Given the description of an element on the screen output the (x, y) to click on. 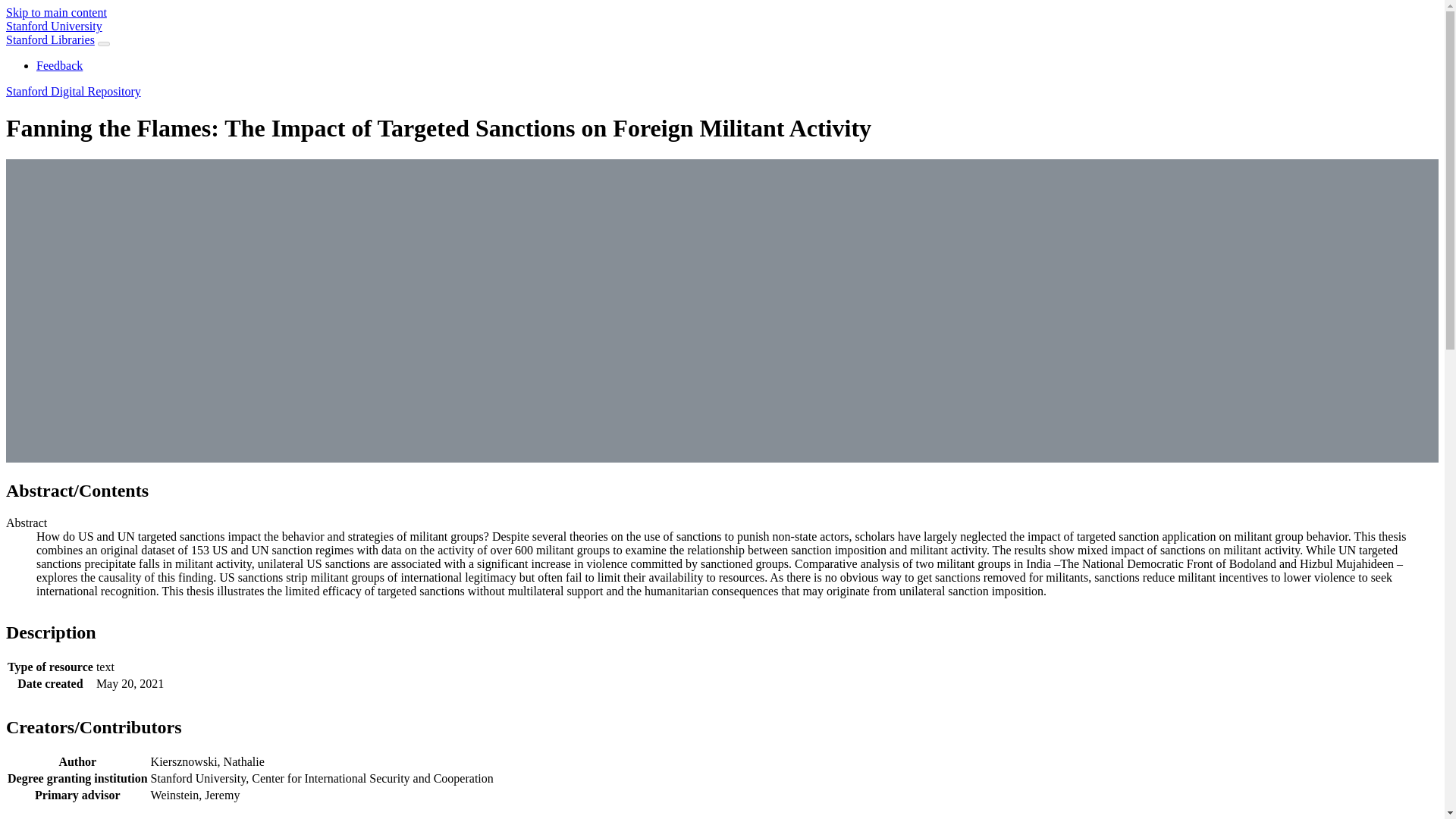
Stanford Libraries (49, 39)
Stanford Digital Repository (73, 91)
Feedback (59, 65)
Skip to main content (55, 11)
Stanford University (53, 25)
